Given the description of an element on the screen output the (x, y) to click on. 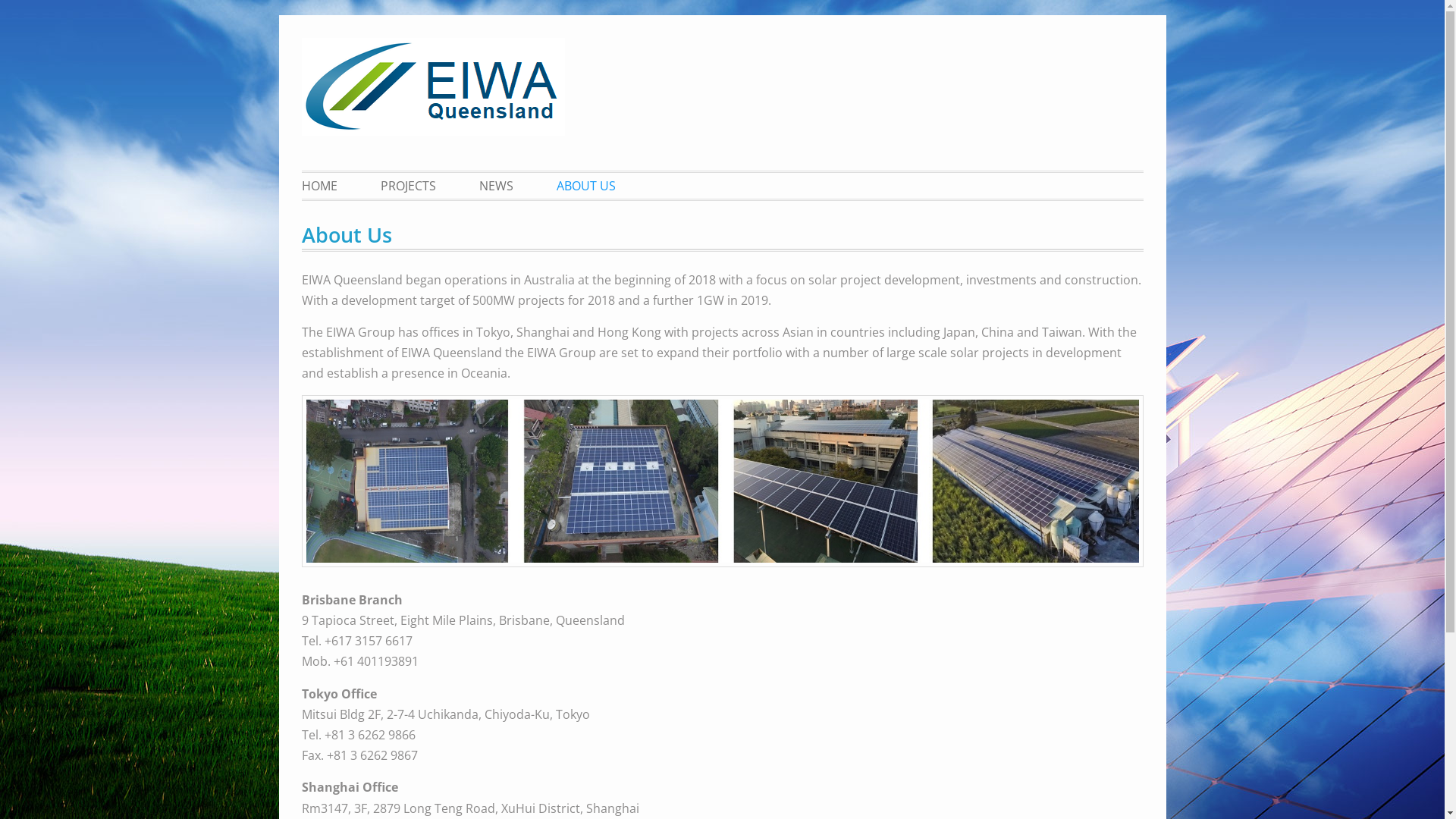
HOME Element type: text (328, 185)
NEWS Element type: text (495, 185)
ABOUT US Element type: text (584, 185)
Skip to content Element type: text (300, 14)
PROJECTS Element type: text (407, 185)
